Given the description of an element on the screen output the (x, y) to click on. 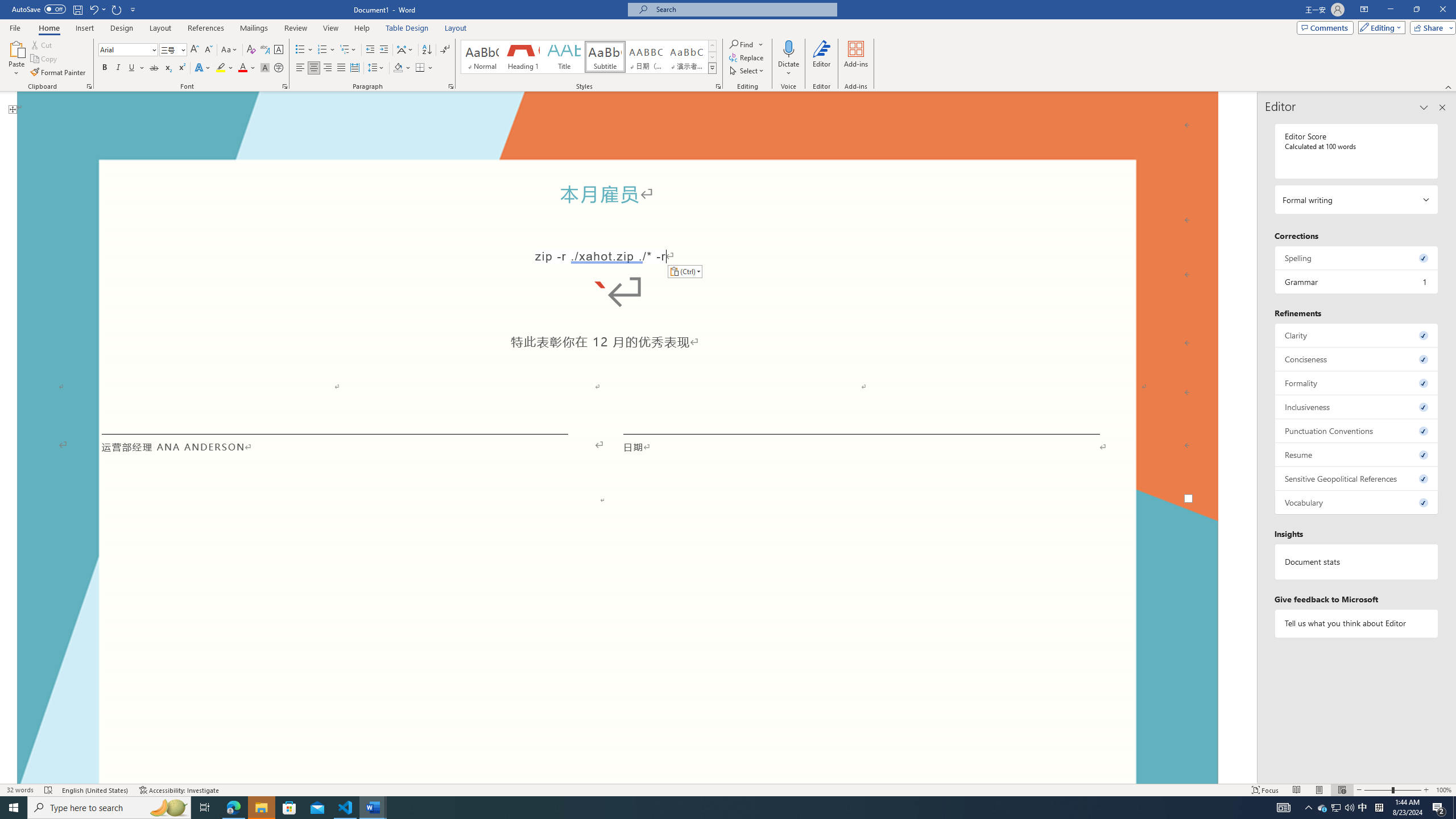
Clear Formatting (250, 49)
Row up (711, 45)
Strikethrough (154, 67)
Shading (402, 67)
Font... (285, 85)
Shrink Font (208, 49)
Sort... (426, 49)
Text Highlight Color (224, 67)
Superscript (180, 67)
Distributed (354, 67)
